Given the description of an element on the screen output the (x, y) to click on. 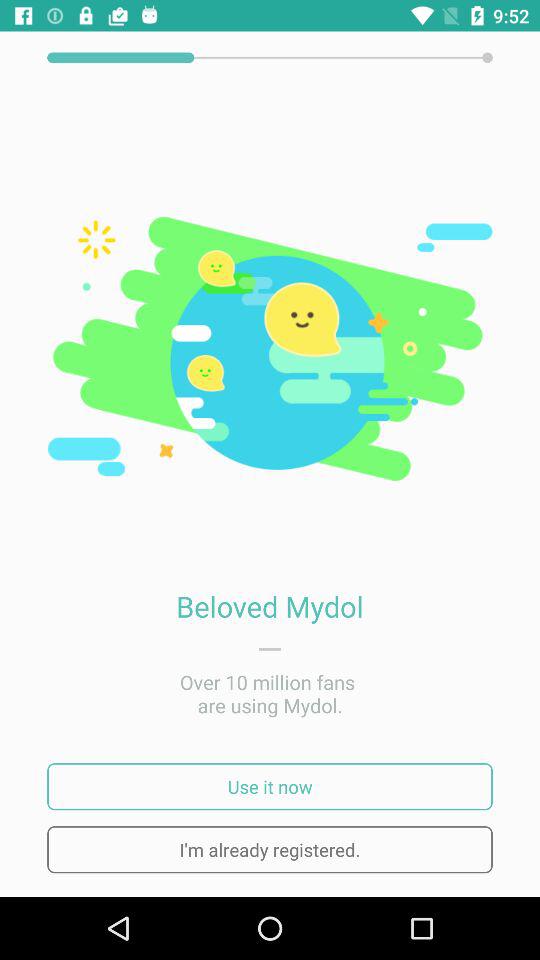
scroll to the use it now (269, 786)
